Given the description of an element on the screen output the (x, y) to click on. 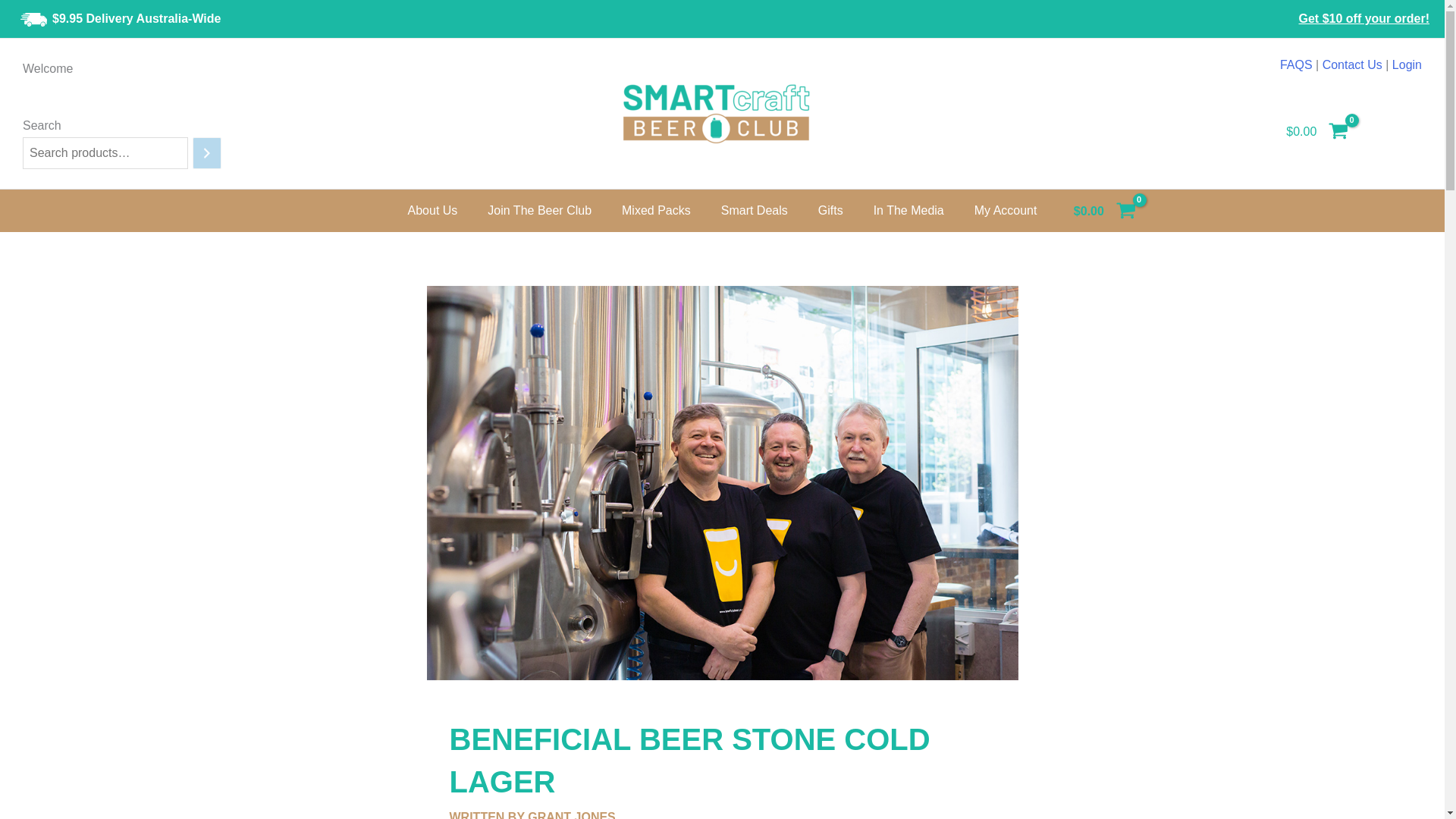
Join The Beer Club (539, 210)
FAQS (1296, 64)
Contact Us (1351, 64)
About Us (433, 210)
Smart Deals (754, 210)
Login (1406, 64)
Mixed Packs (656, 210)
My Account (1005, 210)
Gifts (831, 210)
In The Media (909, 210)
